Given the description of an element on the screen output the (x, y) to click on. 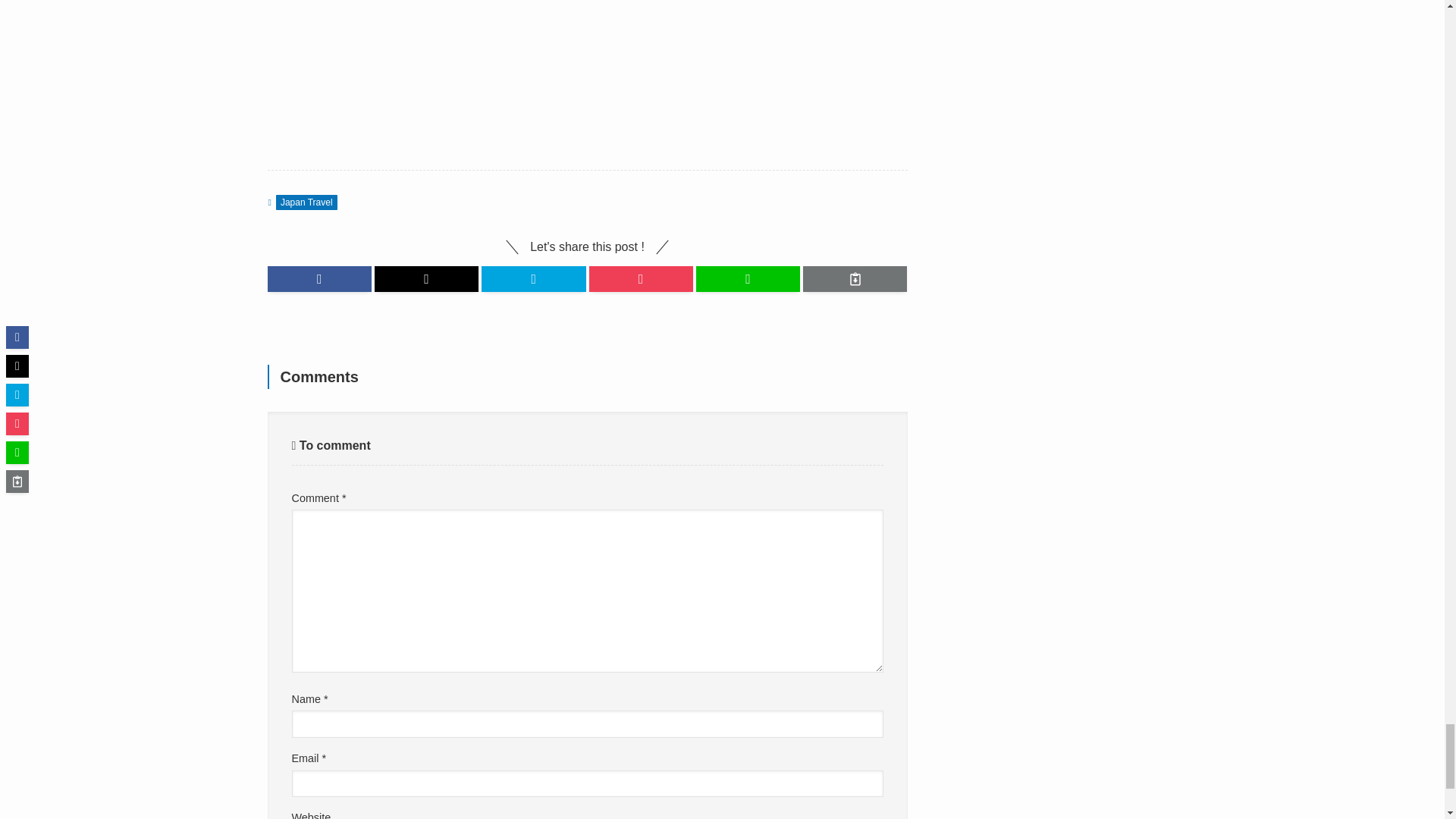
Save to Pocket (640, 278)
Send to LINE (747, 278)
Share on Facebook (319, 278)
Copy the URL (855, 278)
Register in Hatena Bookmark (533, 278)
